Given the description of an element on the screen output the (x, y) to click on. 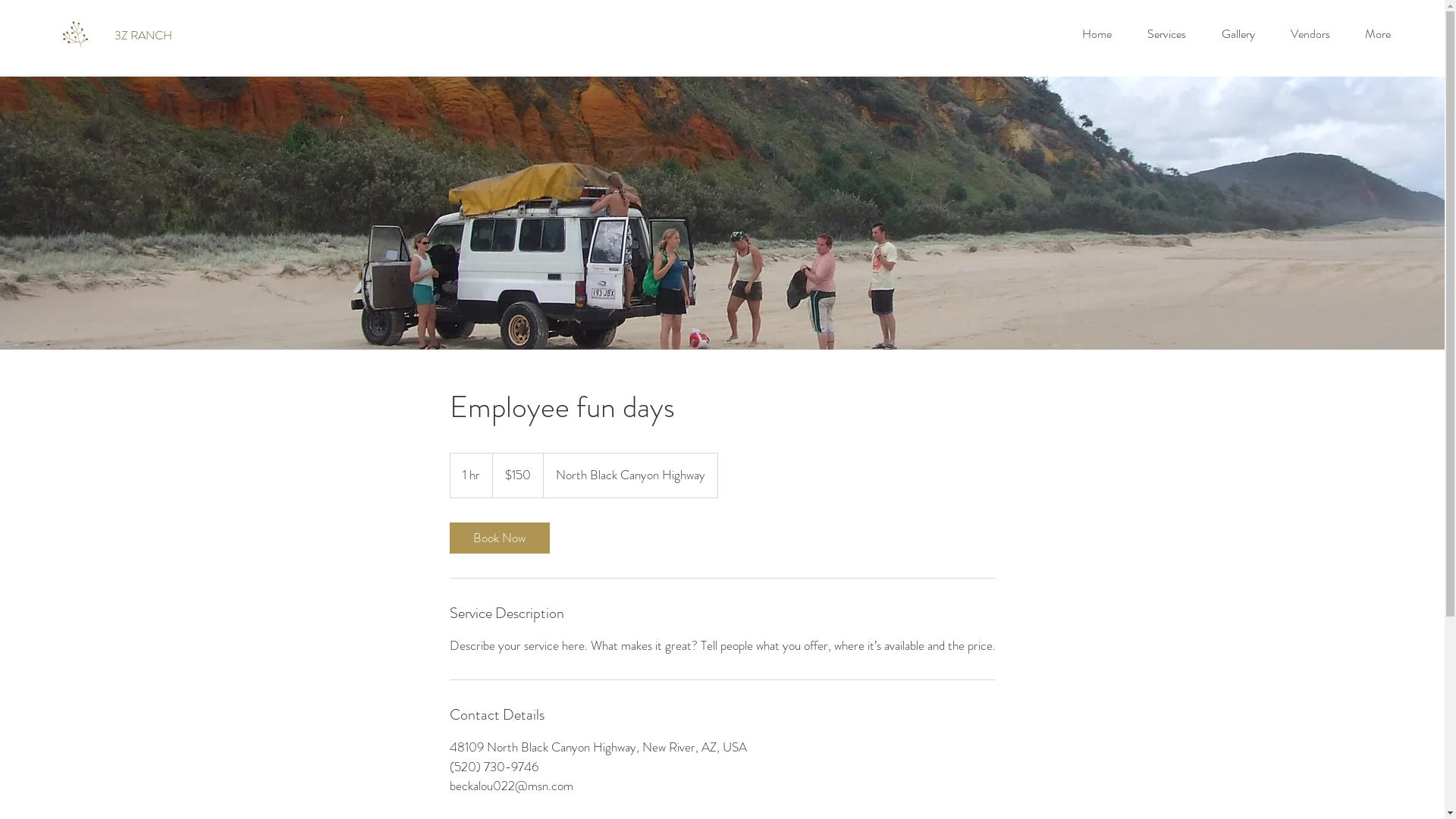
Book Now Element type: text (498, 536)
Gallery Element type: text (1237, 33)
Vendors Element type: text (1309, 33)
Home Element type: text (1096, 33)
Services Element type: text (1166, 33)
3Z RANCH Element type: text (142, 35)
